Given the description of an element on the screen output the (x, y) to click on. 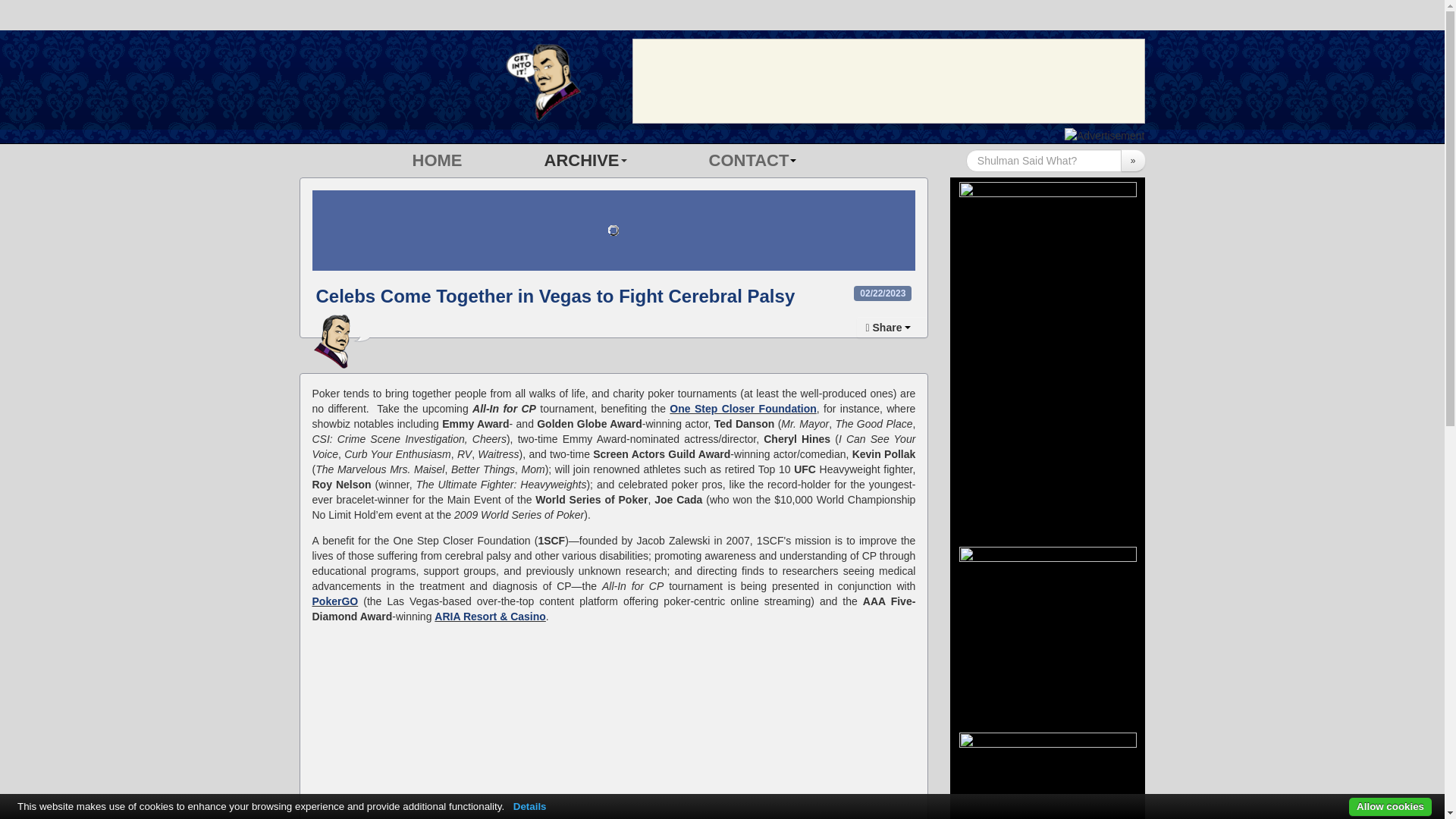
YouTube video player (614, 726)
Celebs Come Together in Vegas to Fight Cerebral Palsy (554, 295)
HOME (437, 160)
Share (892, 327)
One Step Closer Foundation (742, 408)
Shulman Says (448, 81)
PokerGO (335, 601)
CONTACT (752, 160)
ARCHIVE (585, 160)
